Given the description of an element on the screen output the (x, y) to click on. 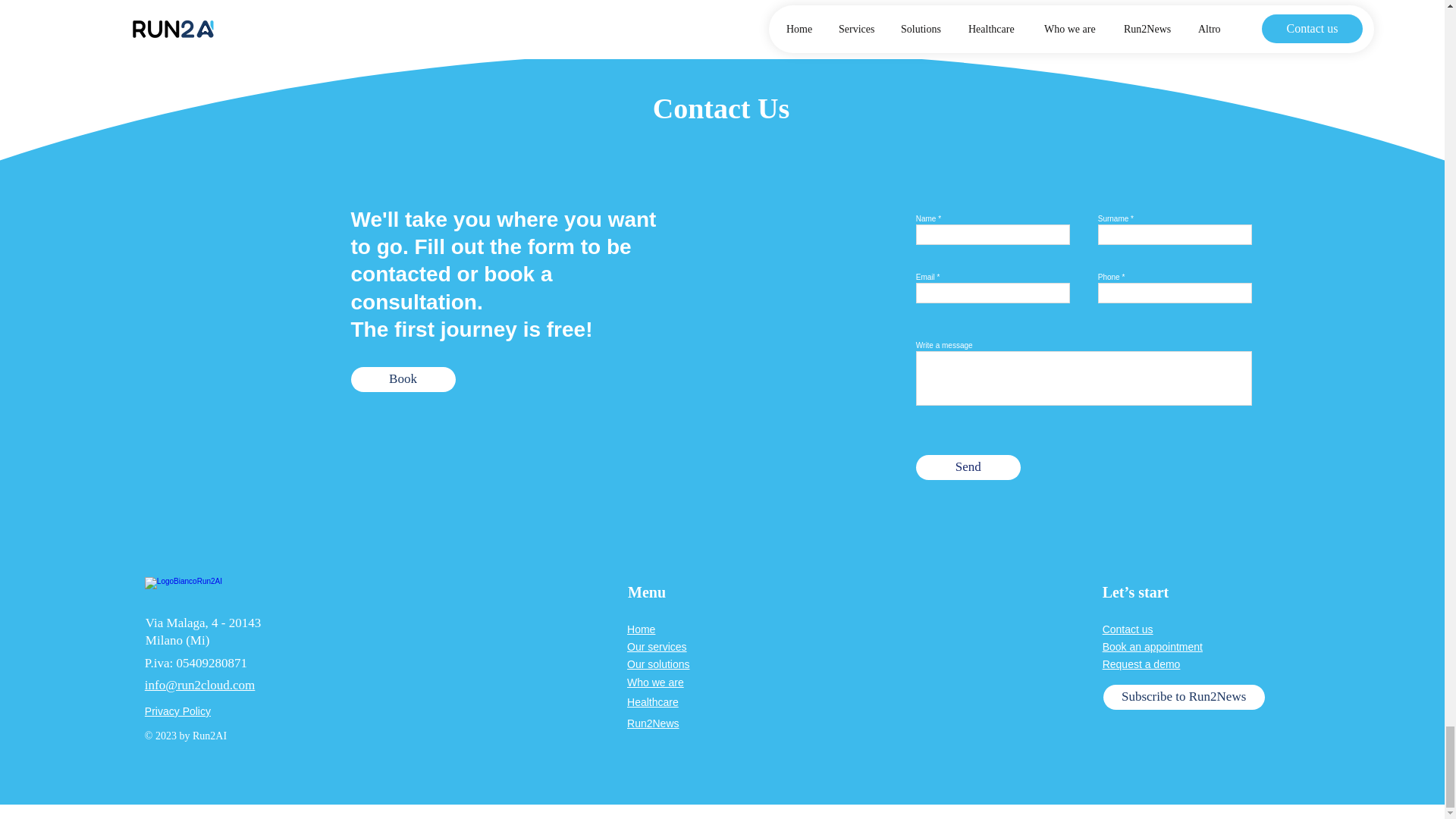
Book (402, 379)
Who we are (655, 682)
Our solutions (657, 664)
Home (641, 629)
Send (967, 467)
Privacy Policy (177, 711)
